Given the description of an element on the screen output the (x, y) to click on. 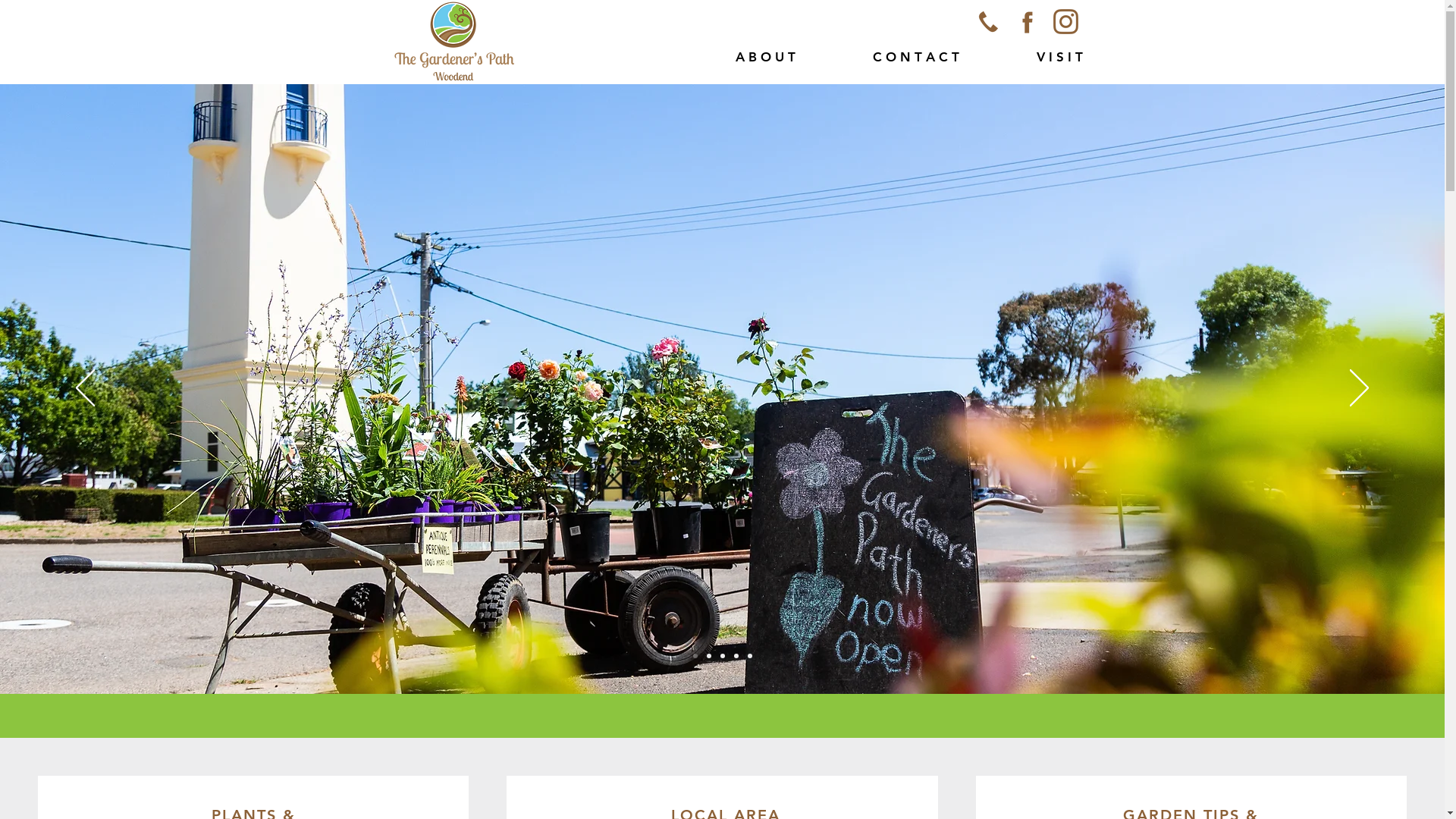
V I S I T Element type: text (1032, 56)
C O N T A C T Element type: text (888, 56)
A B O U T Element type: text (737, 56)
